Given the description of an element on the screen output the (x, y) to click on. 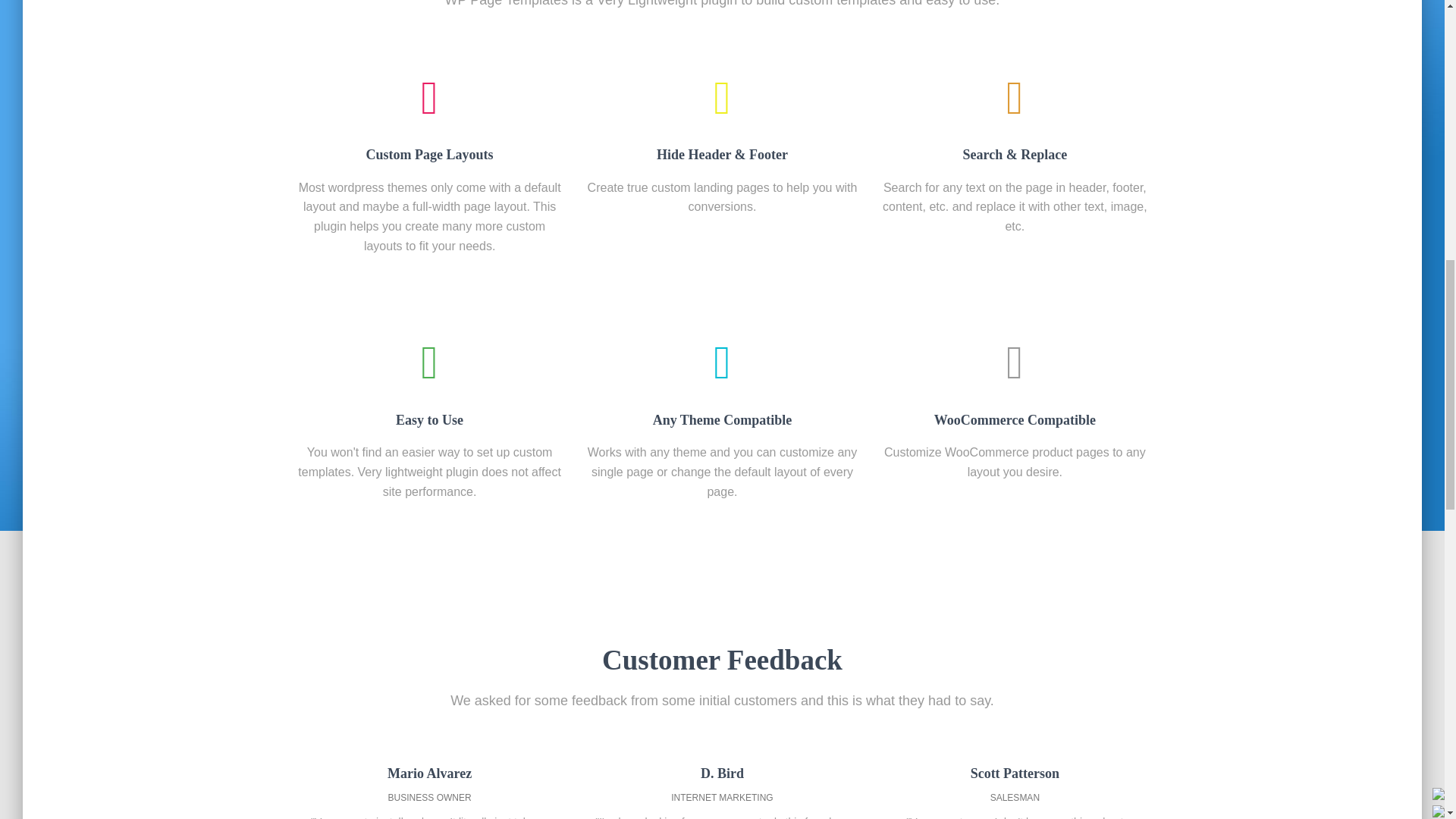
Custom Page Layouts (430, 121)
Easy to Use (430, 385)
Any Theme Compatible (722, 385)
